Given the description of an element on the screen output the (x, y) to click on. 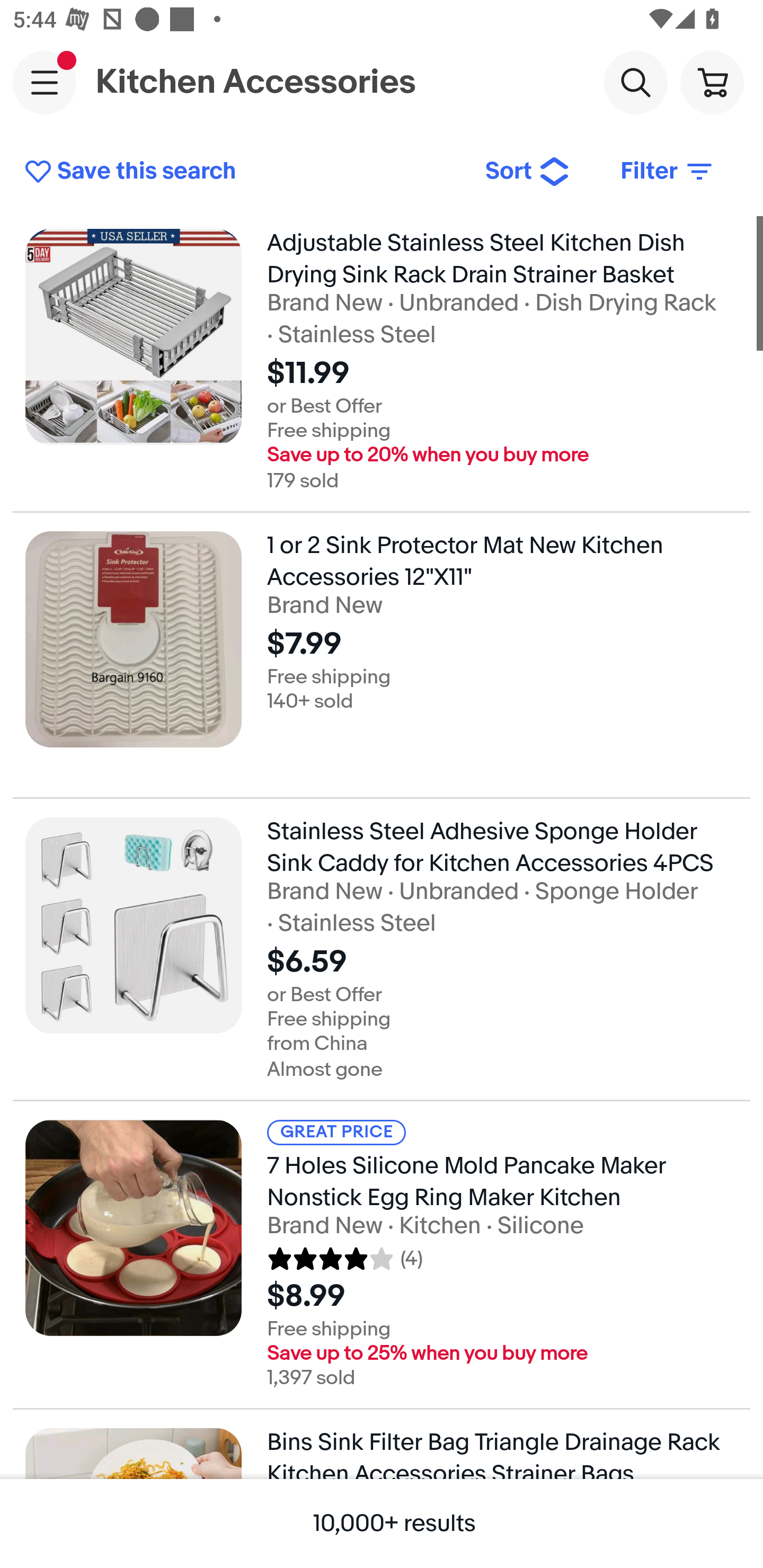
Main navigation, notification is pending, open (44, 82)
Search (635, 81)
Cart button shopping cart (711, 81)
Save this search (241, 171)
Sort (527, 171)
Filter (667, 171)
